Given the description of an element on the screen output the (x, y) to click on. 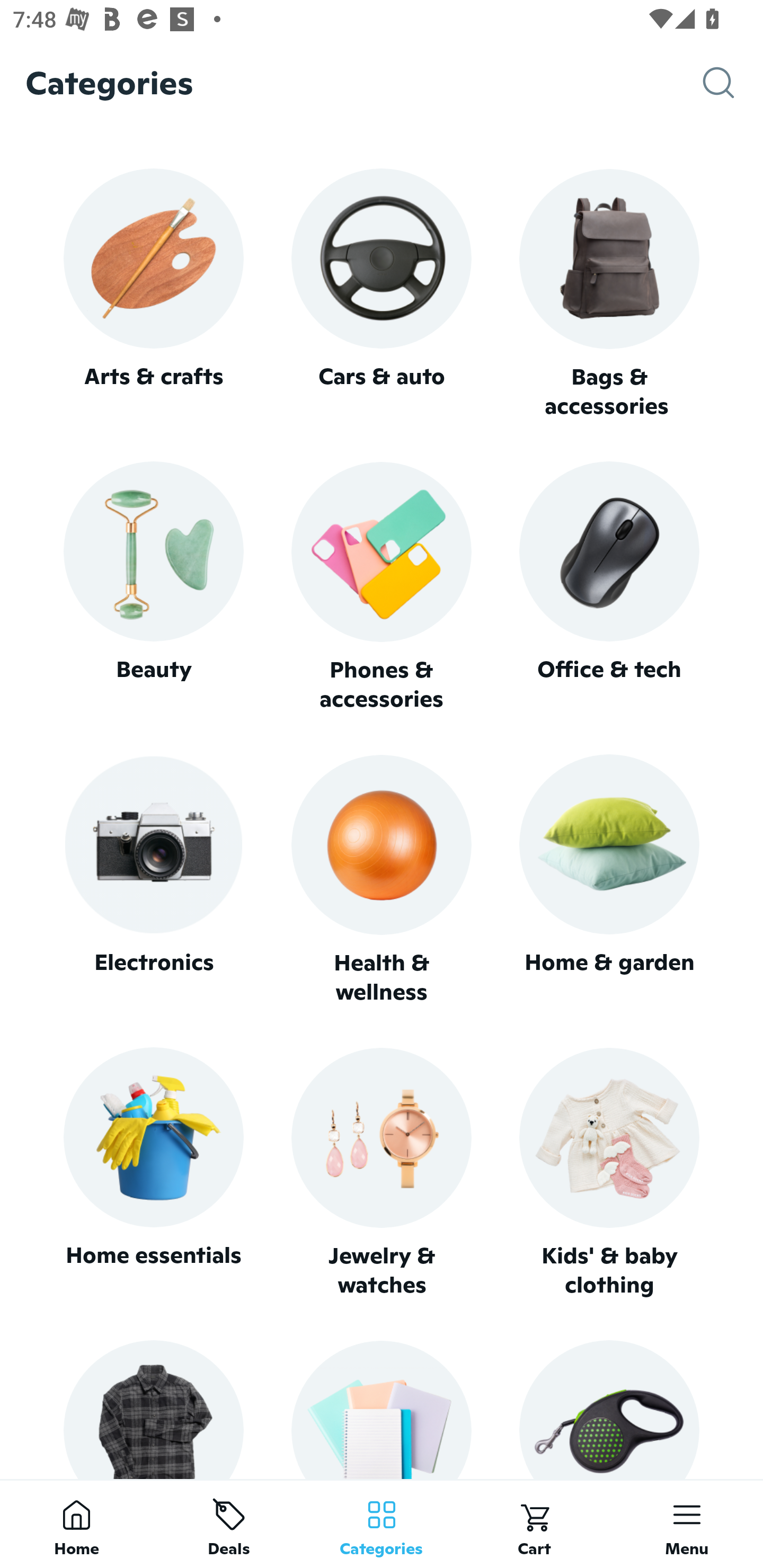
Search (732, 82)
Arts & crafts (153, 293)
Cars & auto (381, 293)
Bags & accessories  (609, 294)
Beauty (153, 586)
Office & tech (609, 586)
Phones & accessories (381, 587)
Electronics (153, 880)
Home & garden (609, 880)
Health & wellness (381, 880)
Home essentials (153, 1172)
Jewelry & watches (381, 1172)
Kids' & baby clothing (609, 1172)
Men's clothing (153, 1409)
Pet supplies (609, 1409)
Office & school supplies (381, 1409)
Home (76, 1523)
Deals (228, 1523)
Categories (381, 1523)
Cart (533, 1523)
Menu (686, 1523)
